Given the description of an element on the screen output the (x, y) to click on. 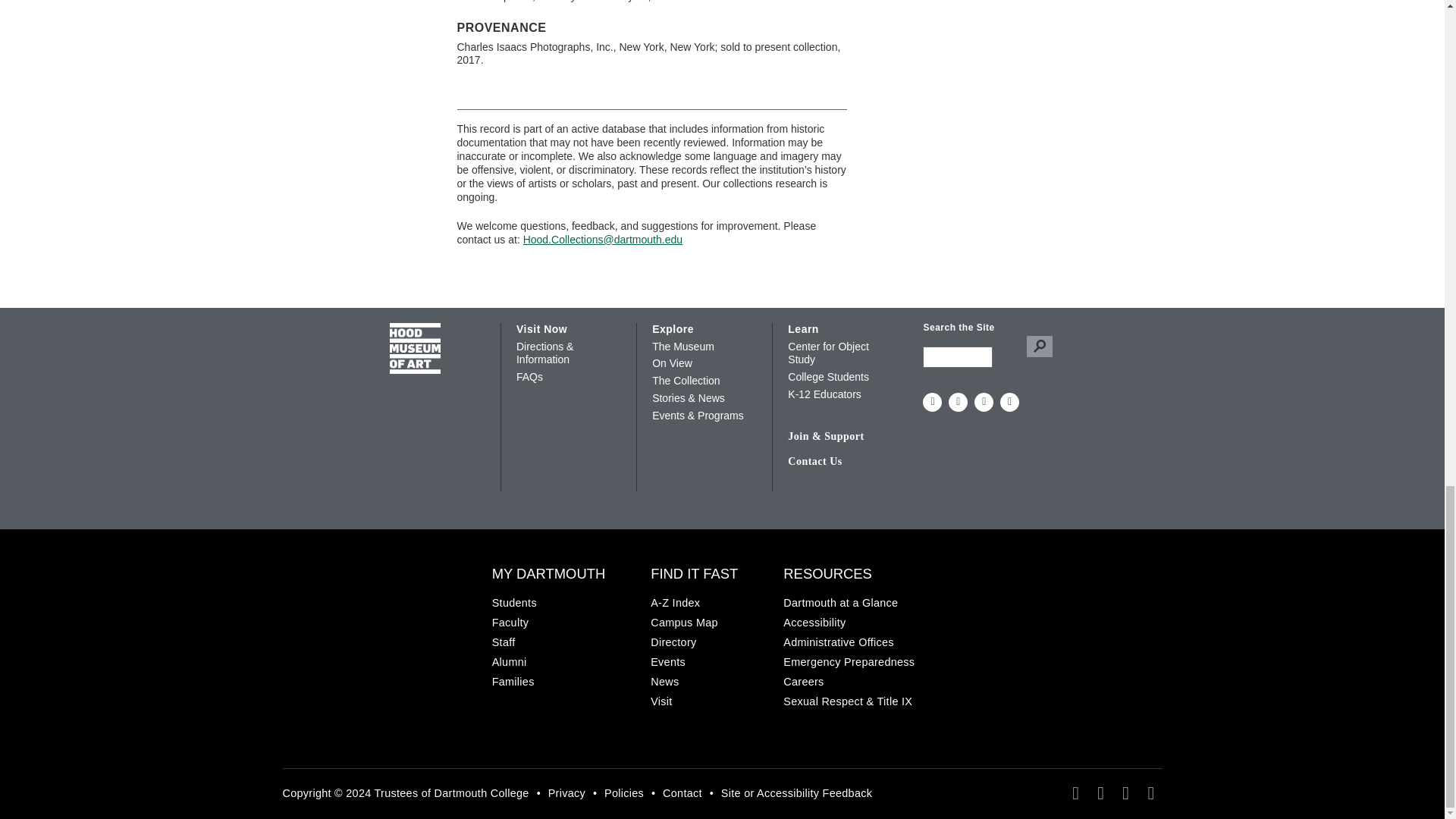
Search this site (957, 356)
